Given the description of an element on the screen output the (x, y) to click on. 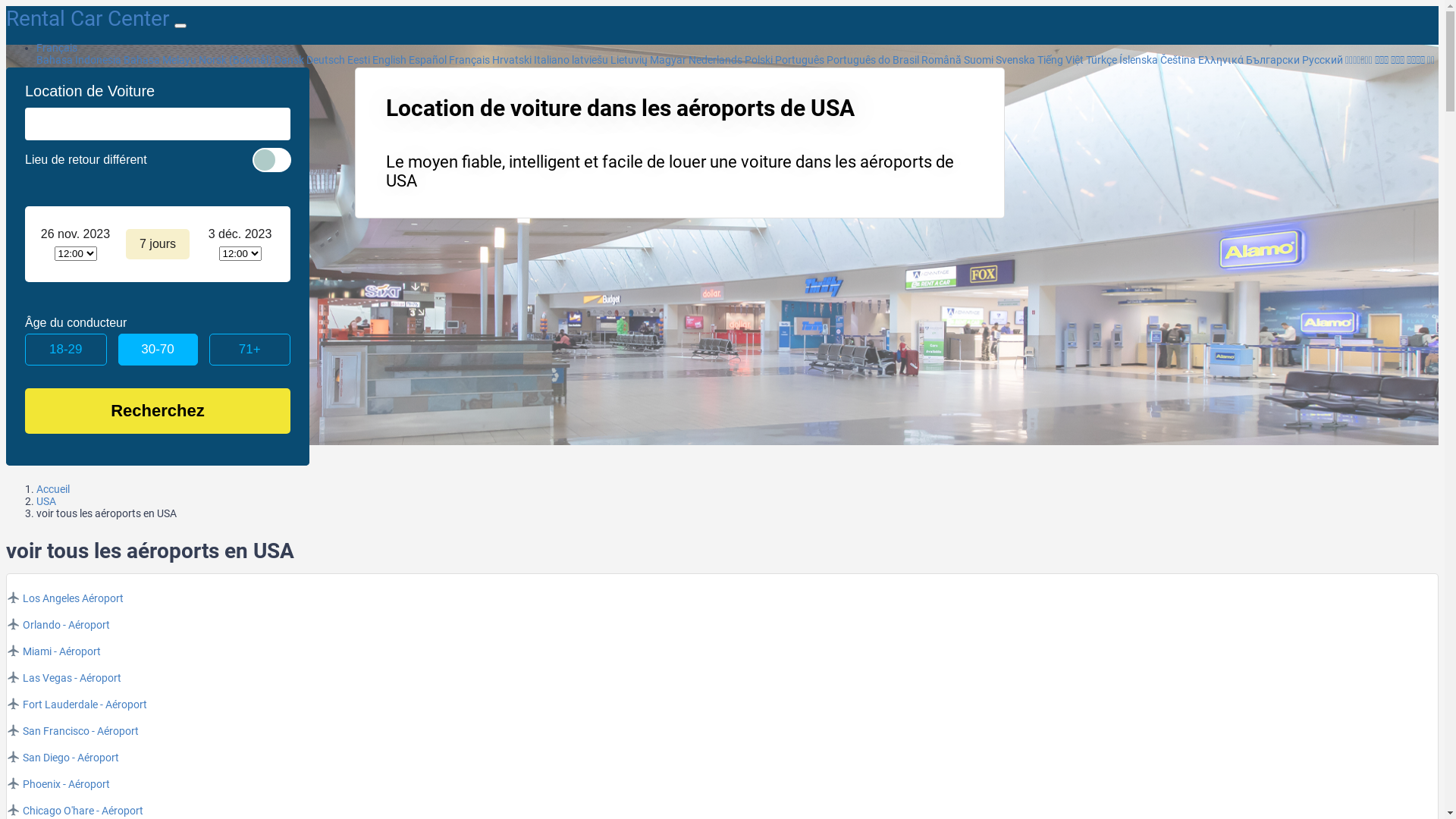
Italiano Element type: text (551, 59)
USA Element type: text (46, 501)
Nederlands Element type: text (715, 59)
Magyar Element type: text (667, 59)
Rental Car Center Element type: text (90, 18)
Deutsch Element type: text (325, 59)
Suomi Element type: text (978, 59)
Bahasa Melayu Element type: text (159, 59)
Accueil Element type: text (52, 489)
Eesti Element type: text (358, 59)
Dansk Element type: text (289, 59)
Hrvatski Element type: text (511, 59)
Bahasa Indonesia Element type: text (78, 59)
Svenska Element type: text (1015, 59)
English Element type: text (389, 59)
Polski Element type: text (758, 59)
